Given the description of an element on the screen output the (x, y) to click on. 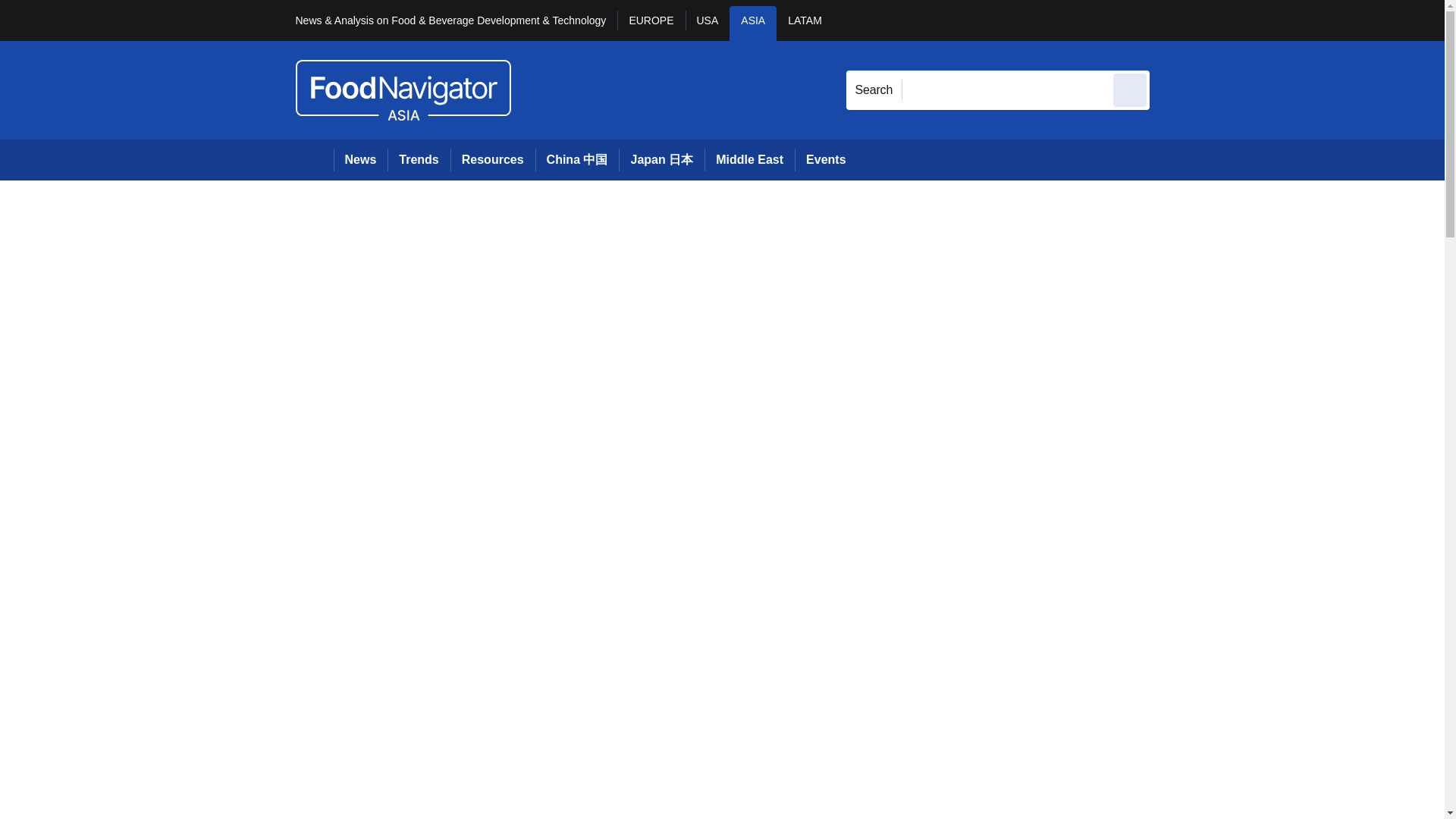
LATAM (804, 22)
Sign in (1171, 20)
Trends (418, 159)
REGISTER (1250, 20)
EUROPE (650, 22)
News (360, 159)
Home (313, 159)
Send (1129, 90)
Sign out (1174, 20)
ASIA (752, 22)
